Given the description of an element on the screen output the (x, y) to click on. 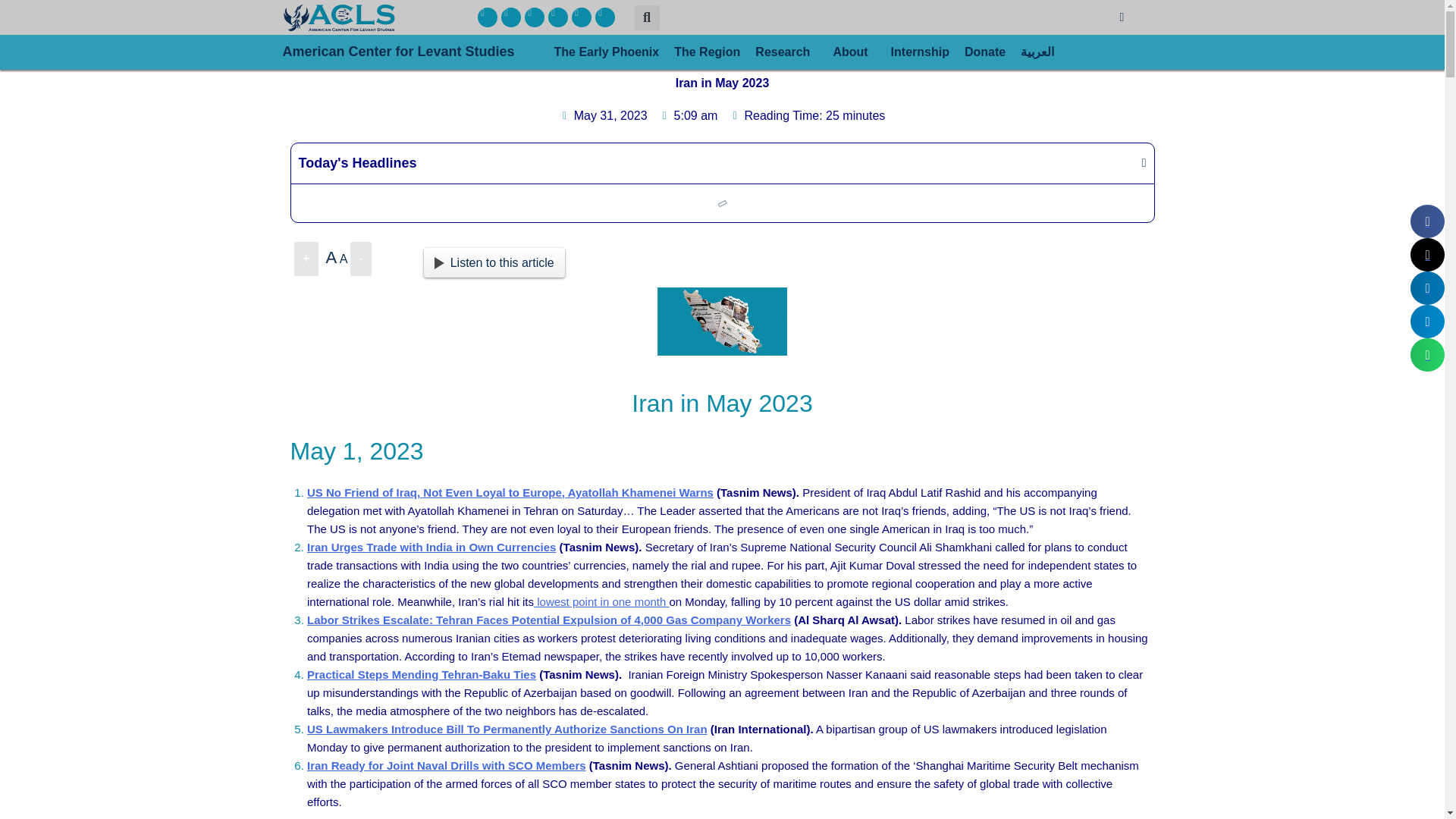
The Early Phoenix (606, 52)
The Region (707, 52)
American Center for Levant Studies (414, 52)
Youtube (581, 17)
Facebook (487, 17)
Google (604, 17)
Donate (984, 52)
Twitter (510, 17)
Research (786, 52)
Internship (919, 52)
